Given the description of an element on the screen output the (x, y) to click on. 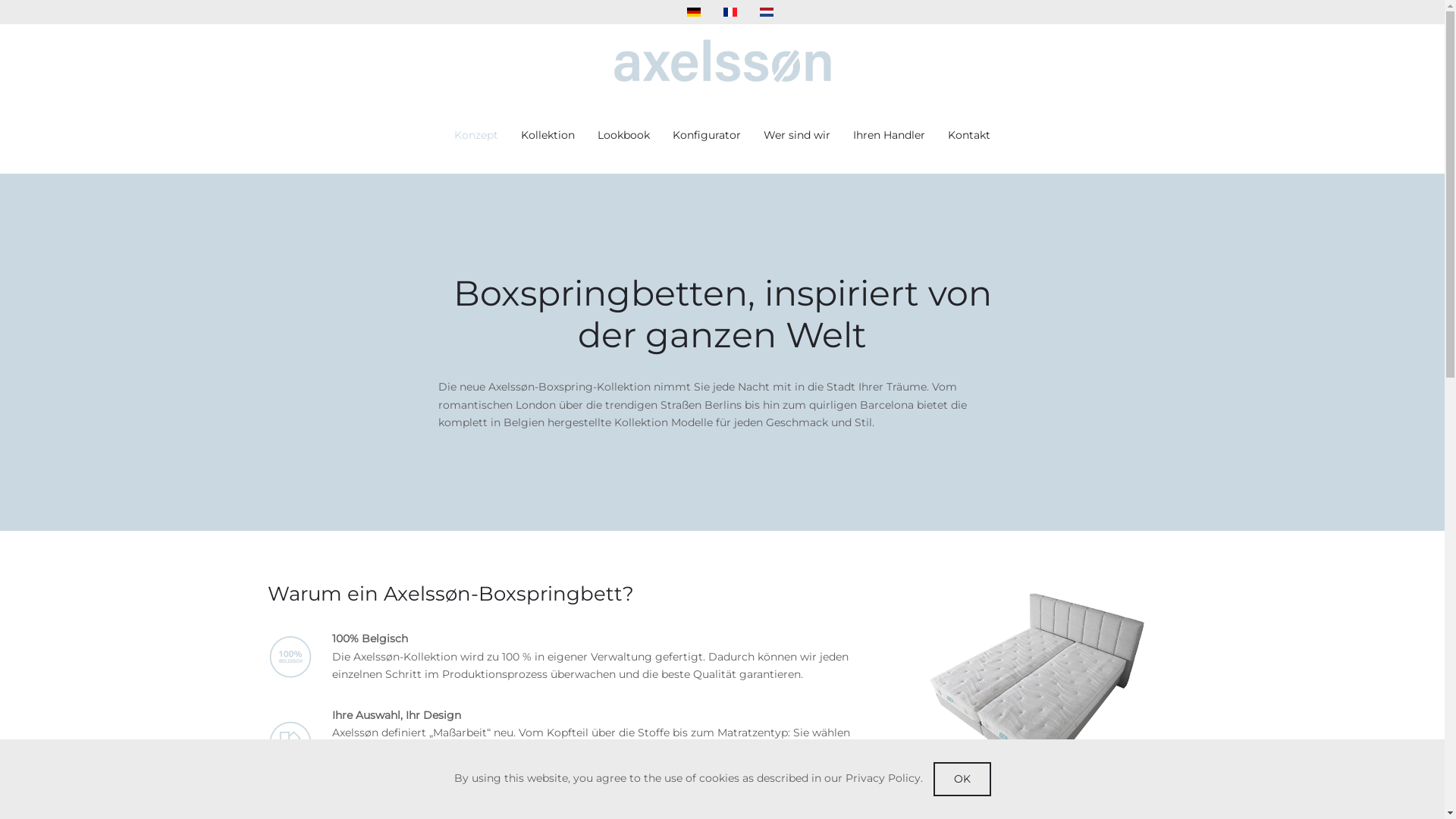
Kontakt Element type: text (968, 135)
Ihren Handler Element type: text (889, 135)
Kollektion Element type: text (547, 135)
Lookbook Element type: text (623, 135)
Konfigurator Element type: text (706, 135)
Deutsch (Deutschland) Element type: hover (693, 11)
OK Element type: text (961, 779)
Nederlands nl-NL Element type: hover (766, 11)
Konzept Element type: text (476, 135)
Wer sind wir Element type: text (796, 135)
